Given the description of an element on the screen output the (x, y) to click on. 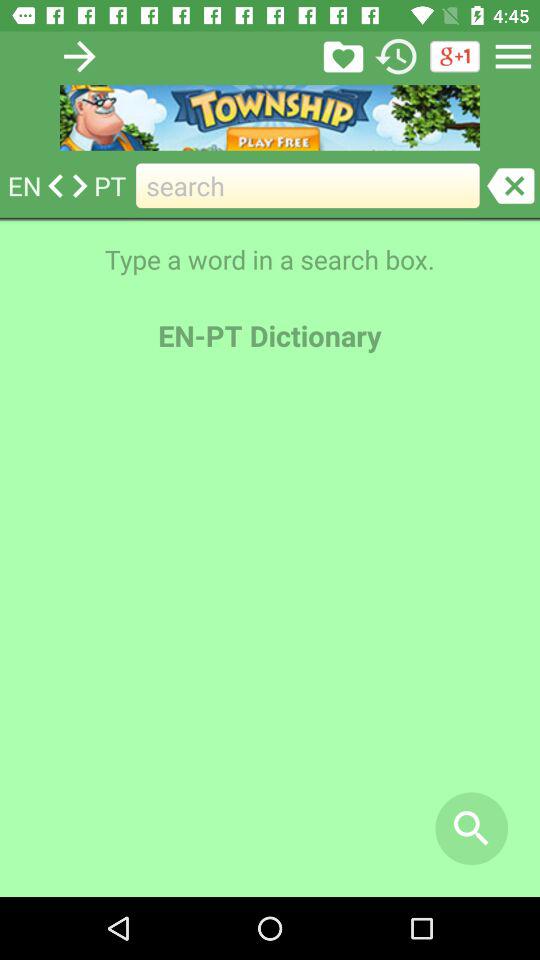
press the icon at the bottom right corner (471, 828)
